Given the description of an element on the screen output the (x, y) to click on. 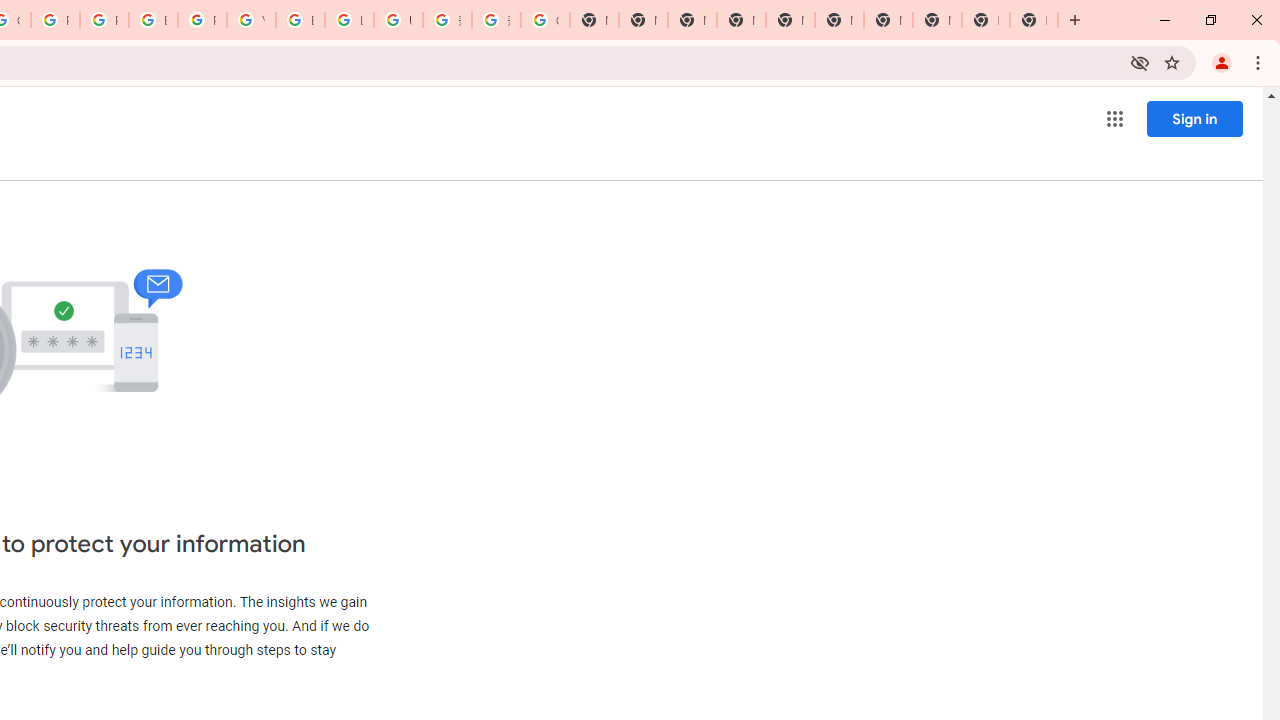
Privacy Help Center - Policies Help (55, 20)
